Given the description of an element on the screen output the (x, y) to click on. 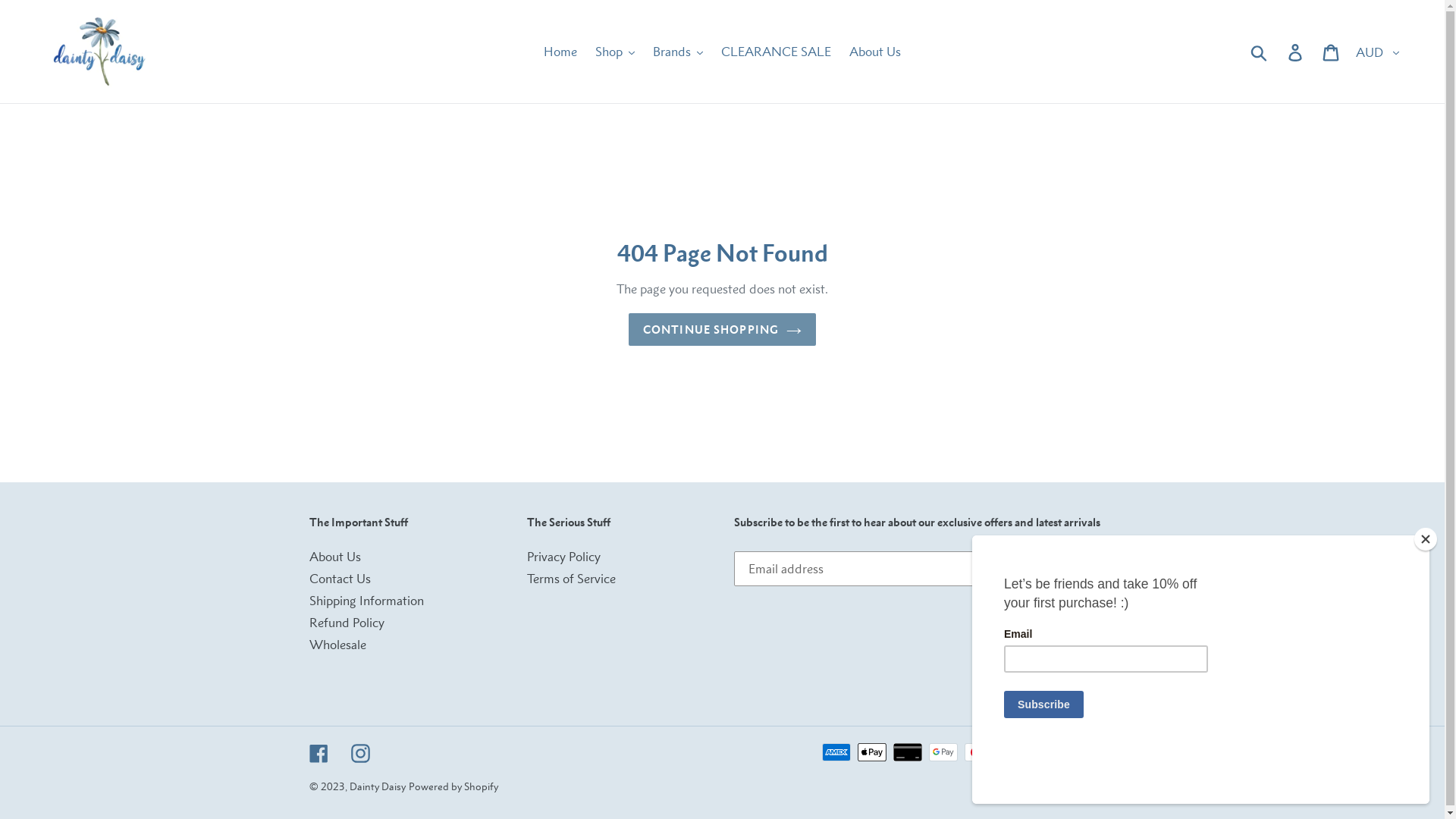
Facebook Element type: text (318, 752)
Submit Element type: text (1259, 51)
Terms of Service Element type: text (571, 578)
About Us Element type: text (874, 51)
CONTINUE SHOPPING Element type: text (721, 329)
Instagram Element type: text (359, 752)
Dainty Daisy Element type: text (376, 786)
Log in Element type: text (1296, 51)
Privacy Policy Element type: text (563, 556)
Wholesale Element type: text (337, 644)
Cart Element type: text (1331, 51)
SUBSCRIBE Element type: text (1087, 568)
About Us Element type: text (334, 556)
Powered by Shopify Element type: text (452, 786)
Shipping Information Element type: text (366, 600)
CLEARANCE SALE Element type: text (775, 51)
Refund Policy Element type: text (346, 622)
Contact Us Element type: text (339, 578)
Home Element type: text (560, 51)
